Given the description of an element on the screen output the (x, y) to click on. 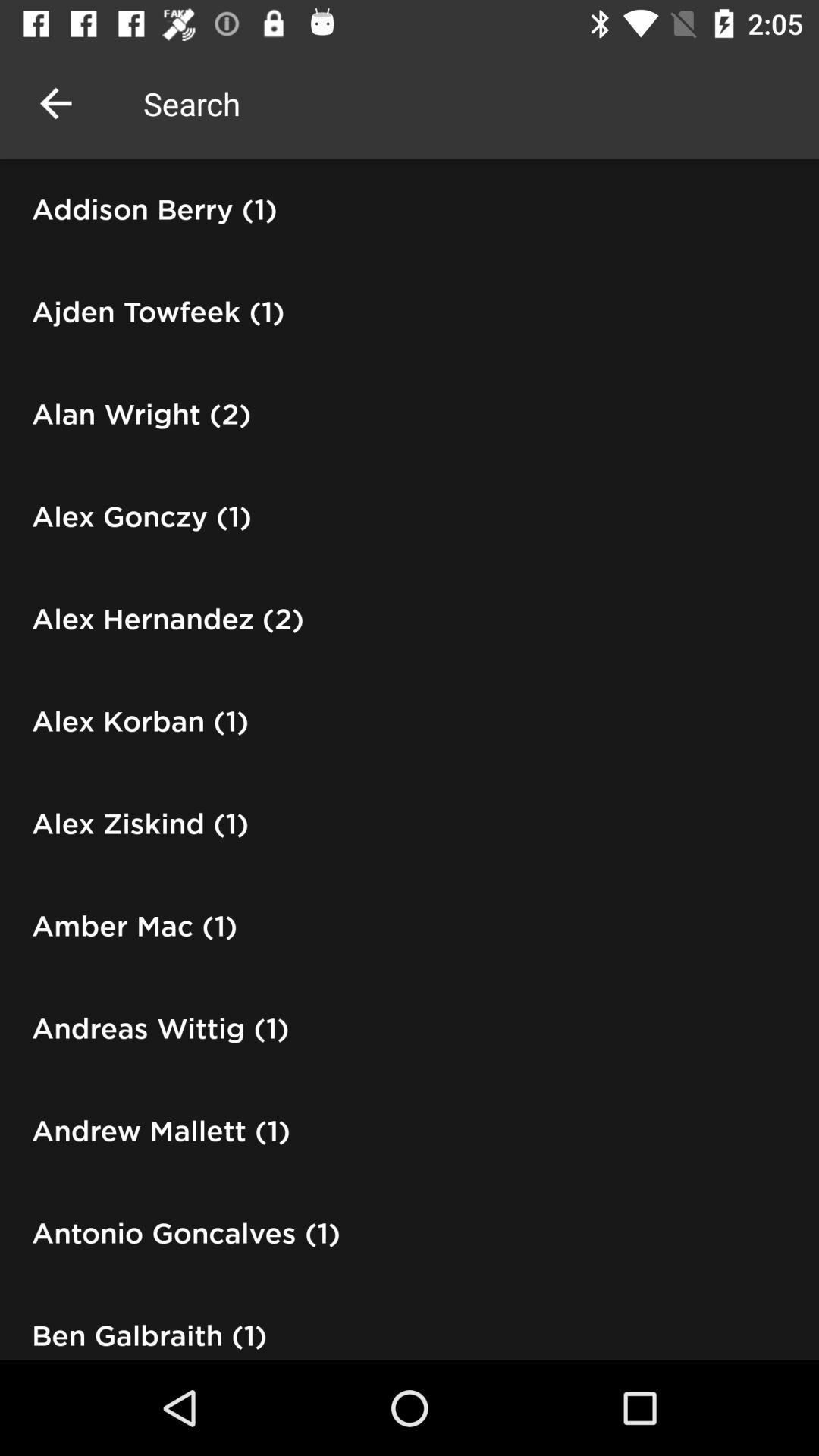
press the icon above addison berry (1) (55, 103)
